Given the description of an element on the screen output the (x, y) to click on. 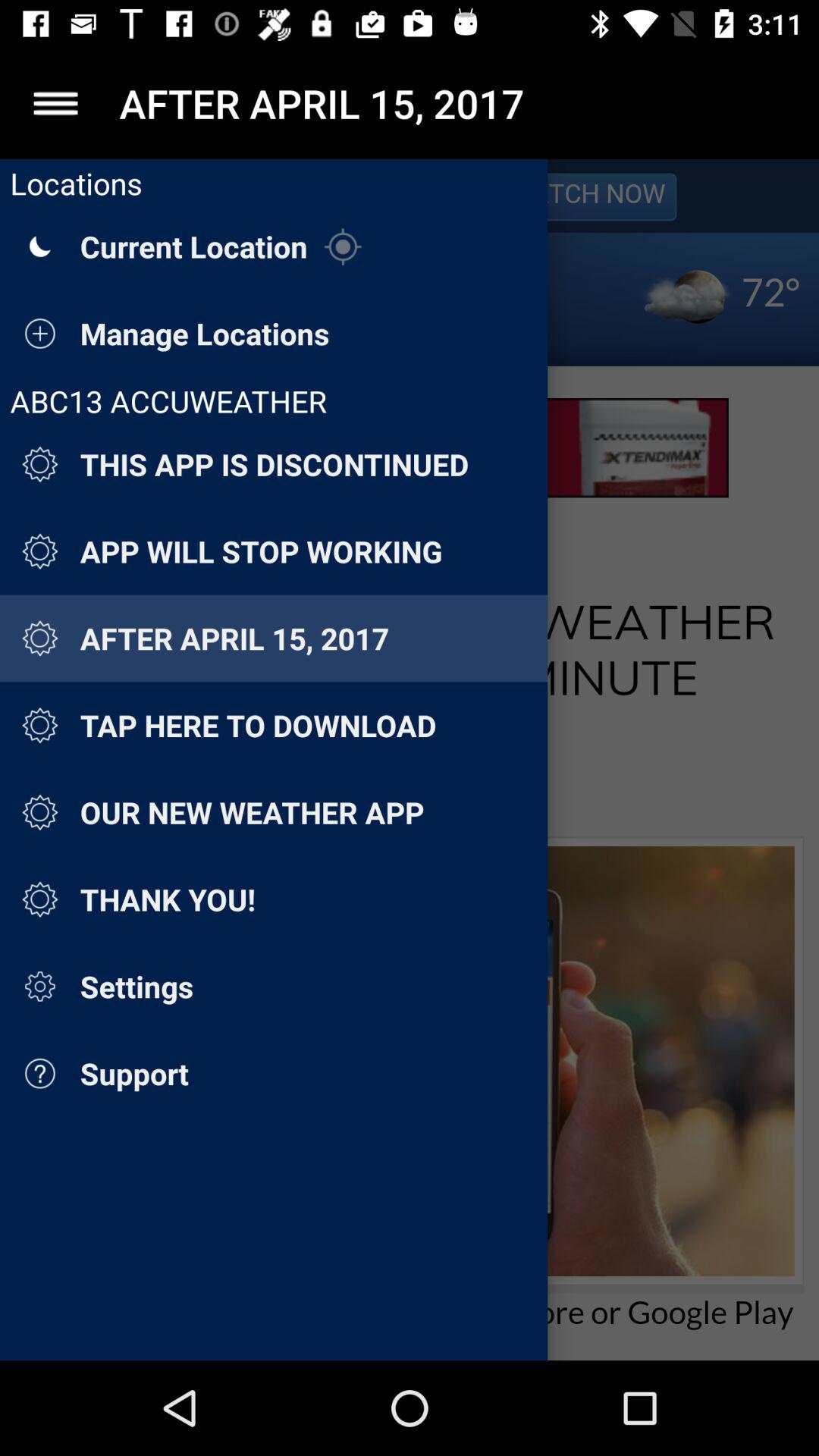
select the option (55, 103)
